Given the description of an element on the screen output the (x, y) to click on. 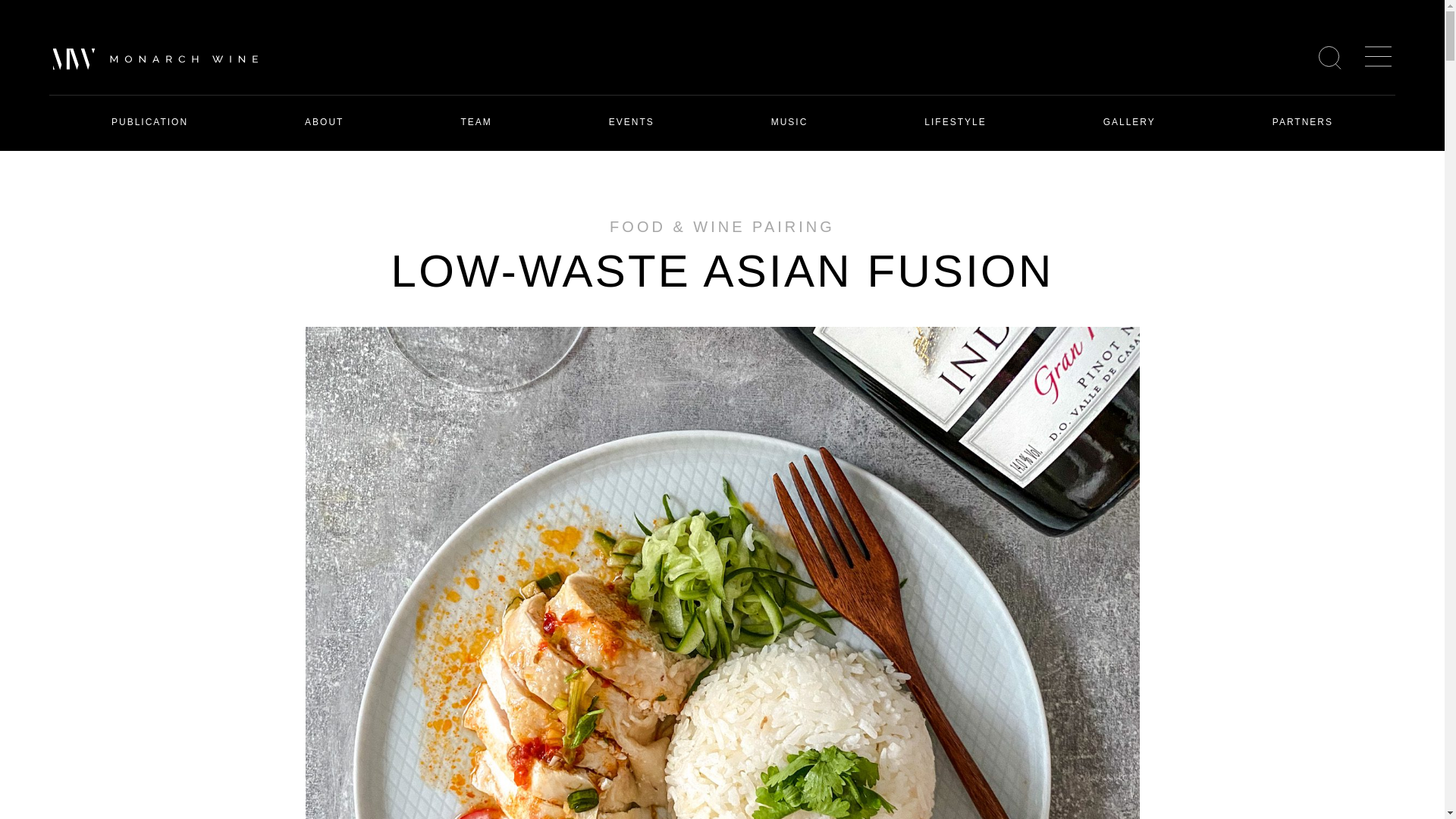
TEAM (475, 121)
LIFESTYLE (954, 121)
GALLERY (1129, 121)
PUBLICATION (149, 121)
PARTNERS (1302, 121)
MUSIC (789, 121)
EVENTS (631, 121)
ABOUT (323, 121)
